Given the description of an element on the screen output the (x, y) to click on. 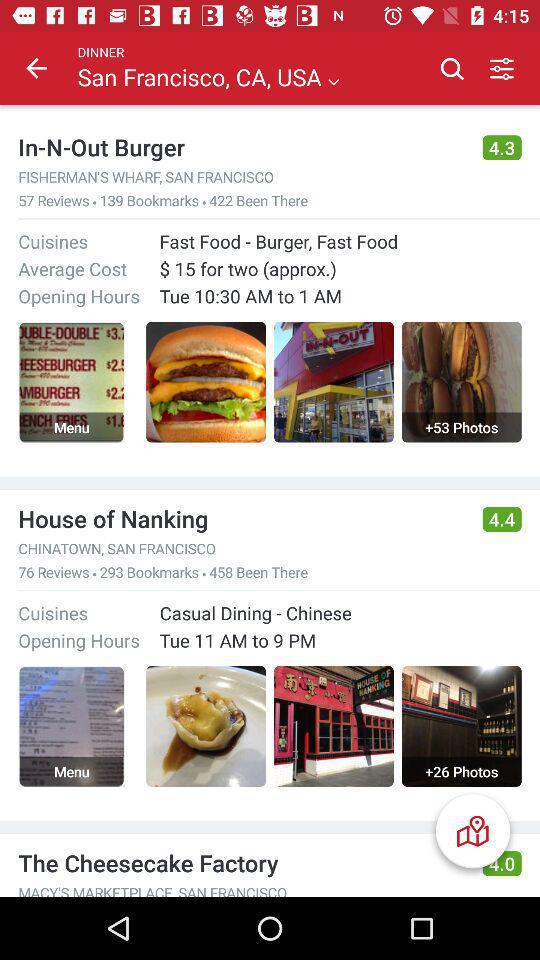
select icon above opening hours icon (72, 268)
